Given the description of an element on the screen output the (x, y) to click on. 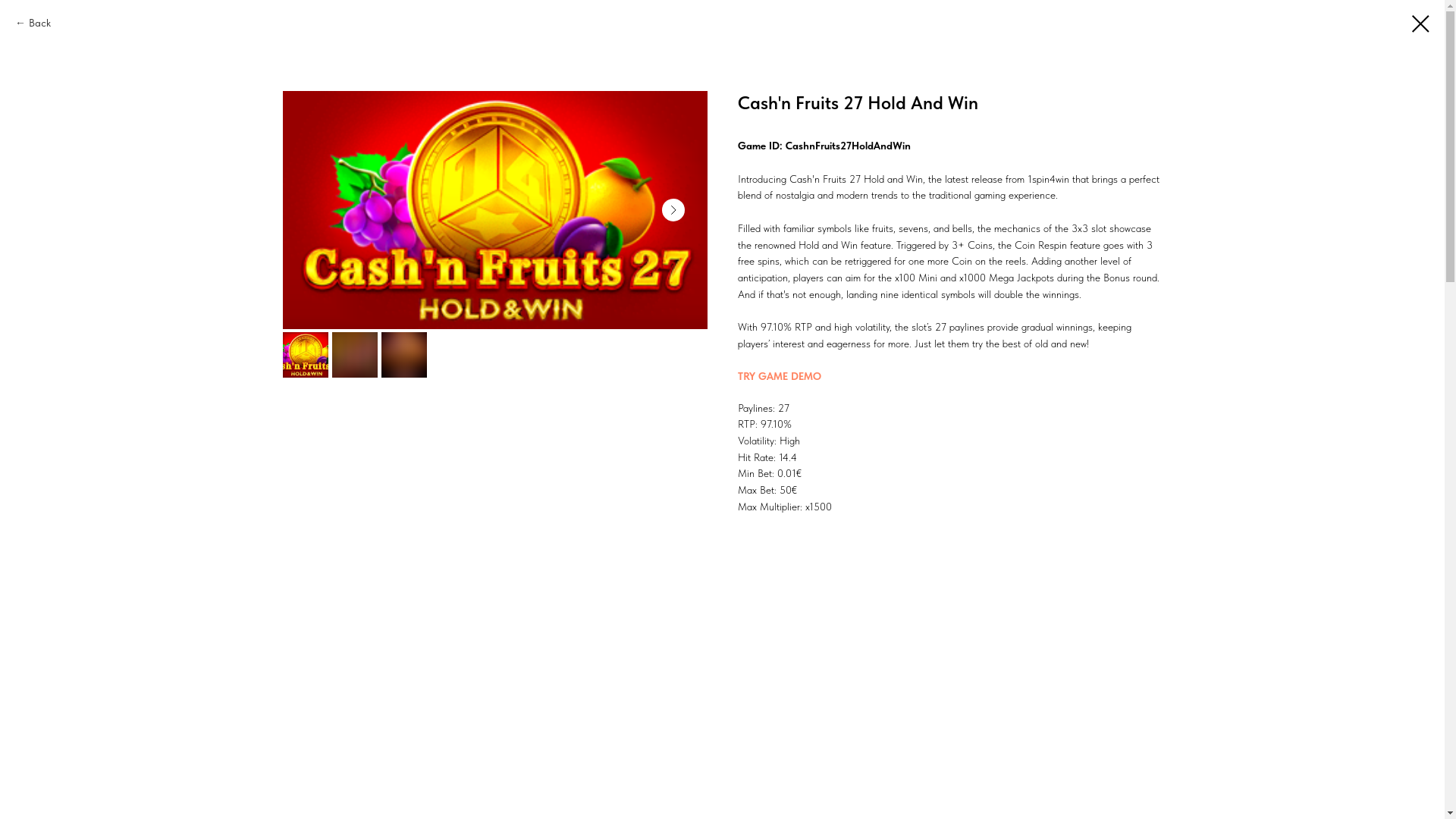
Back Element type: text (32, 23)
TRY GAME DEMO Element type: text (778, 376)
